Given the description of an element on the screen output the (x, y) to click on. 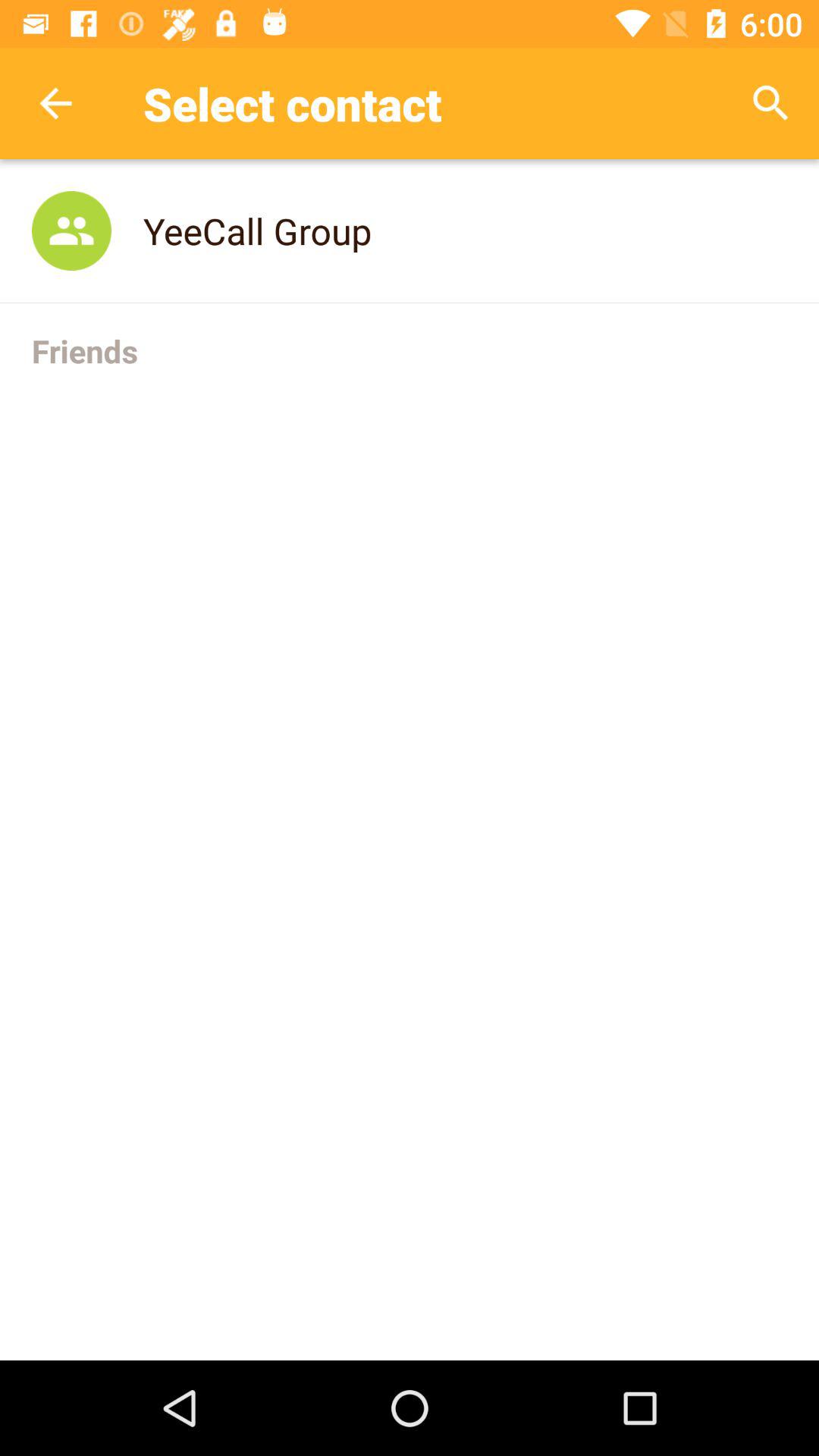
tap the item above the yeecall group item (771, 103)
